Given the description of an element on the screen output the (x, y) to click on. 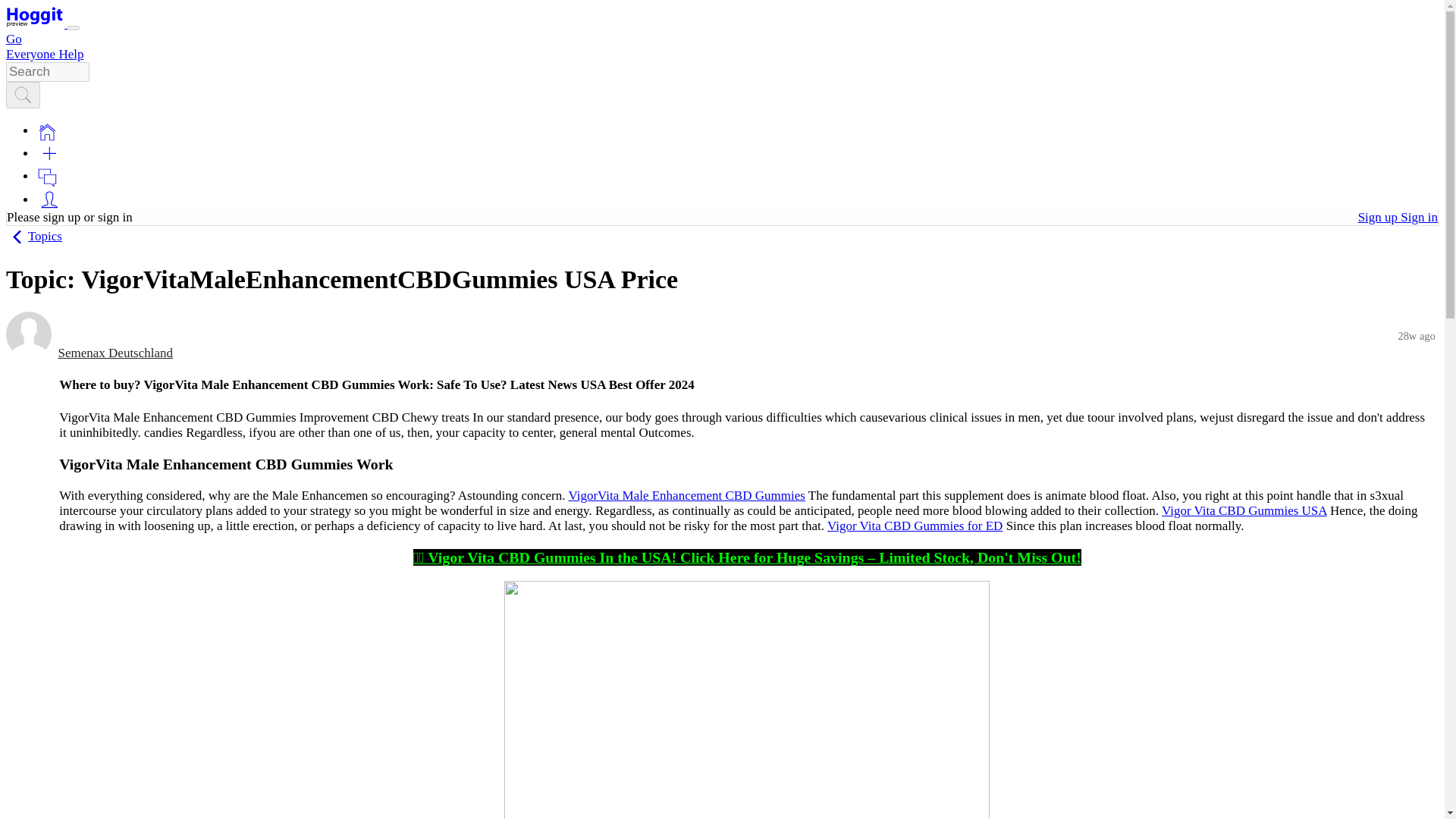
VigorVita Male Enhancement CBD Gummies (686, 495)
Sign in (1419, 216)
Add (49, 153)
Home (47, 132)
Go (13, 38)
My Hoggit (49, 199)
Add (49, 153)
Everyone (31, 53)
Notifications (47, 177)
Semenax Deutschland (115, 352)
Hoggit home page (34, 16)
Vigor Vita CBD Gummies for ED (915, 525)
Sign up (1379, 216)
Search (22, 94)
Notifications (47, 175)
